Given the description of an element on the screen output the (x, y) to click on. 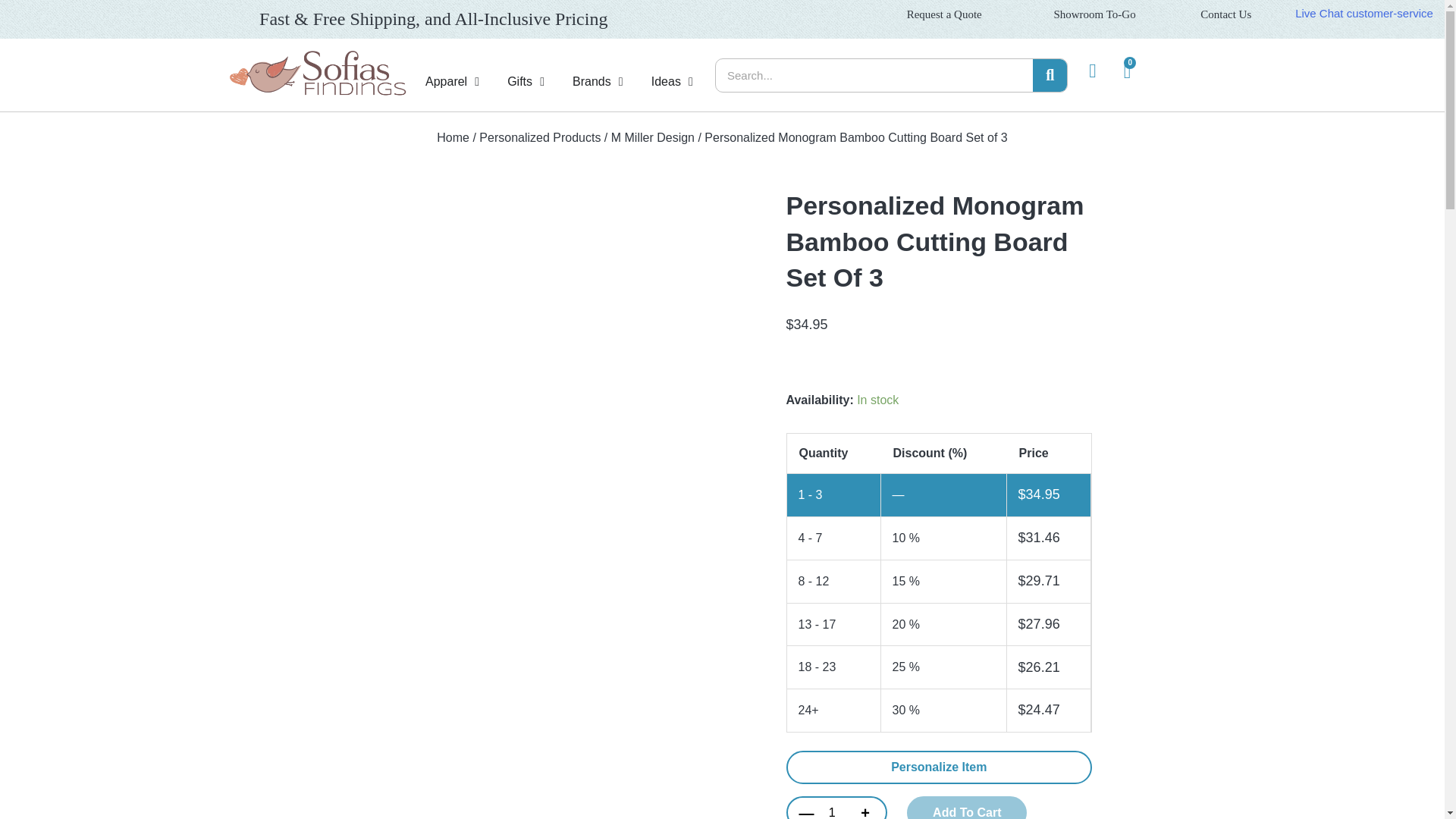
Live Chat customer-service (1363, 12)
1 (832, 809)
Showroom To-Go (1093, 14)
Request a Quote (944, 14)
Contact Us (1224, 14)
Apparel (446, 81)
